Given the description of an element on the screen output the (x, y) to click on. 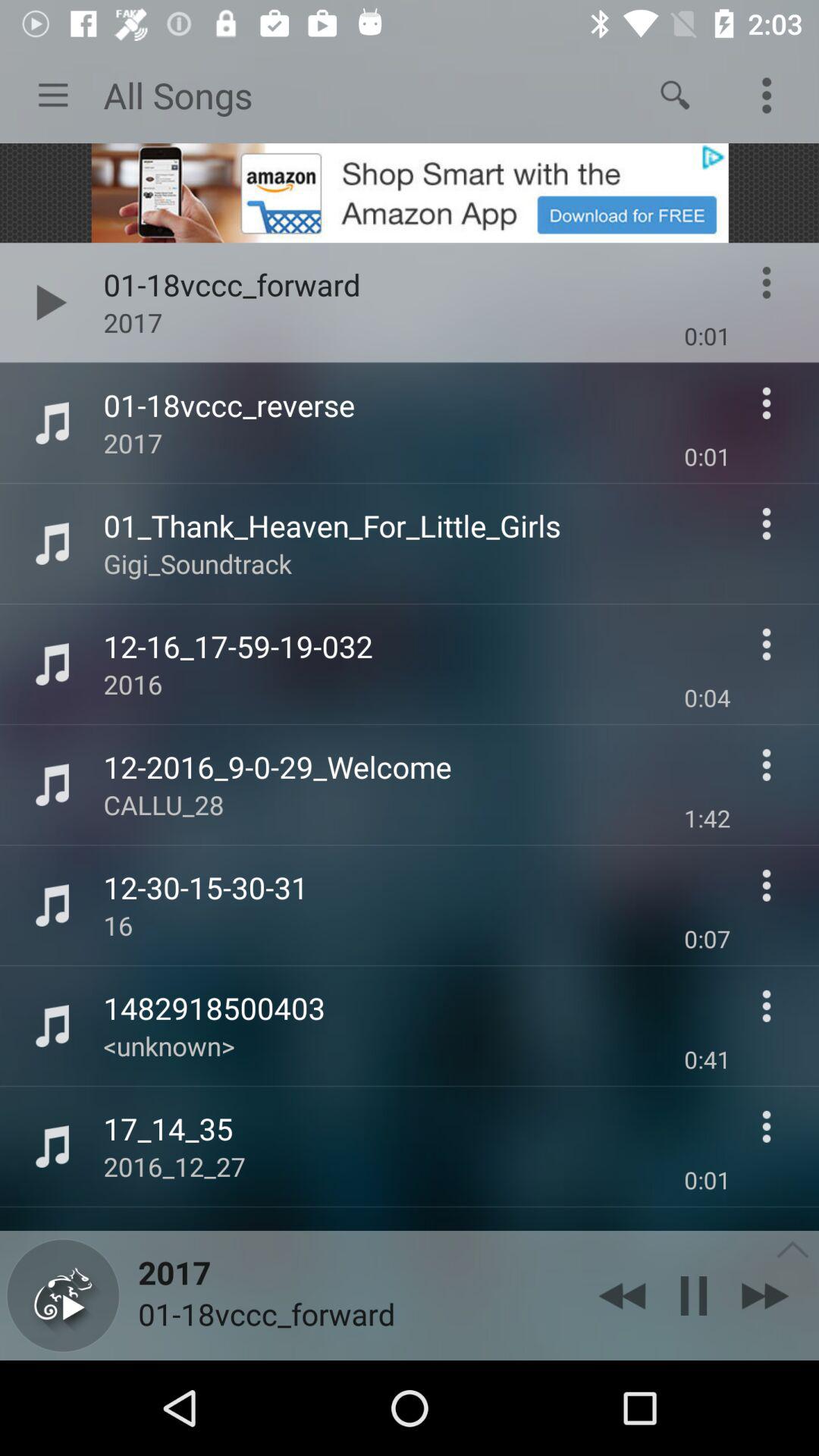
open advertisement (409, 192)
